Given the description of an element on the screen output the (x, y) to click on. 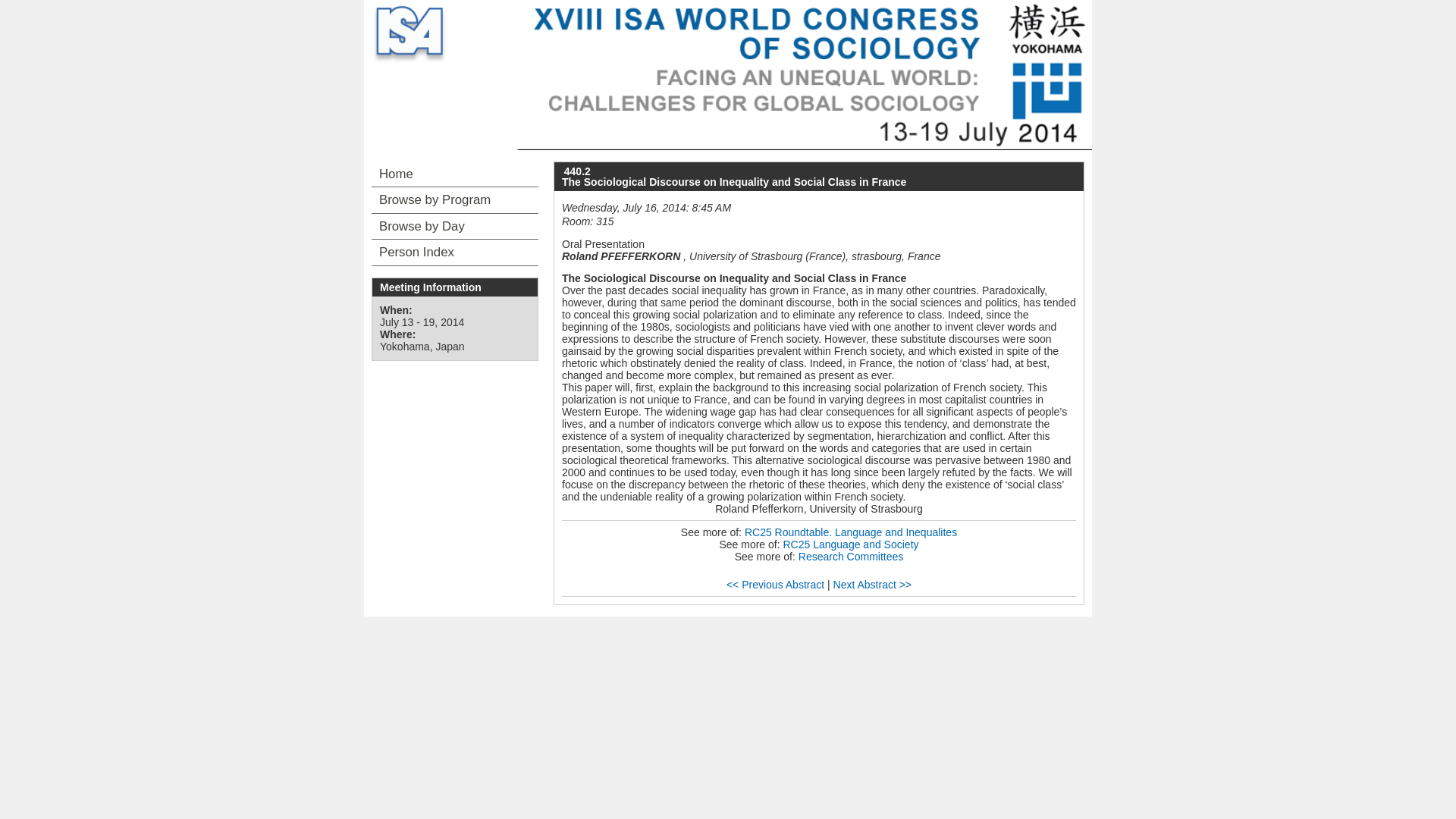
Person Index (454, 252)
RC25 Language and Society (850, 544)
RC25 Roundtable. Language and Inequalites (850, 532)
Browse by Day (454, 226)
Research Committees (850, 556)
Home (454, 174)
Browse by Program (454, 199)
